Given the description of an element on the screen output the (x, y) to click on. 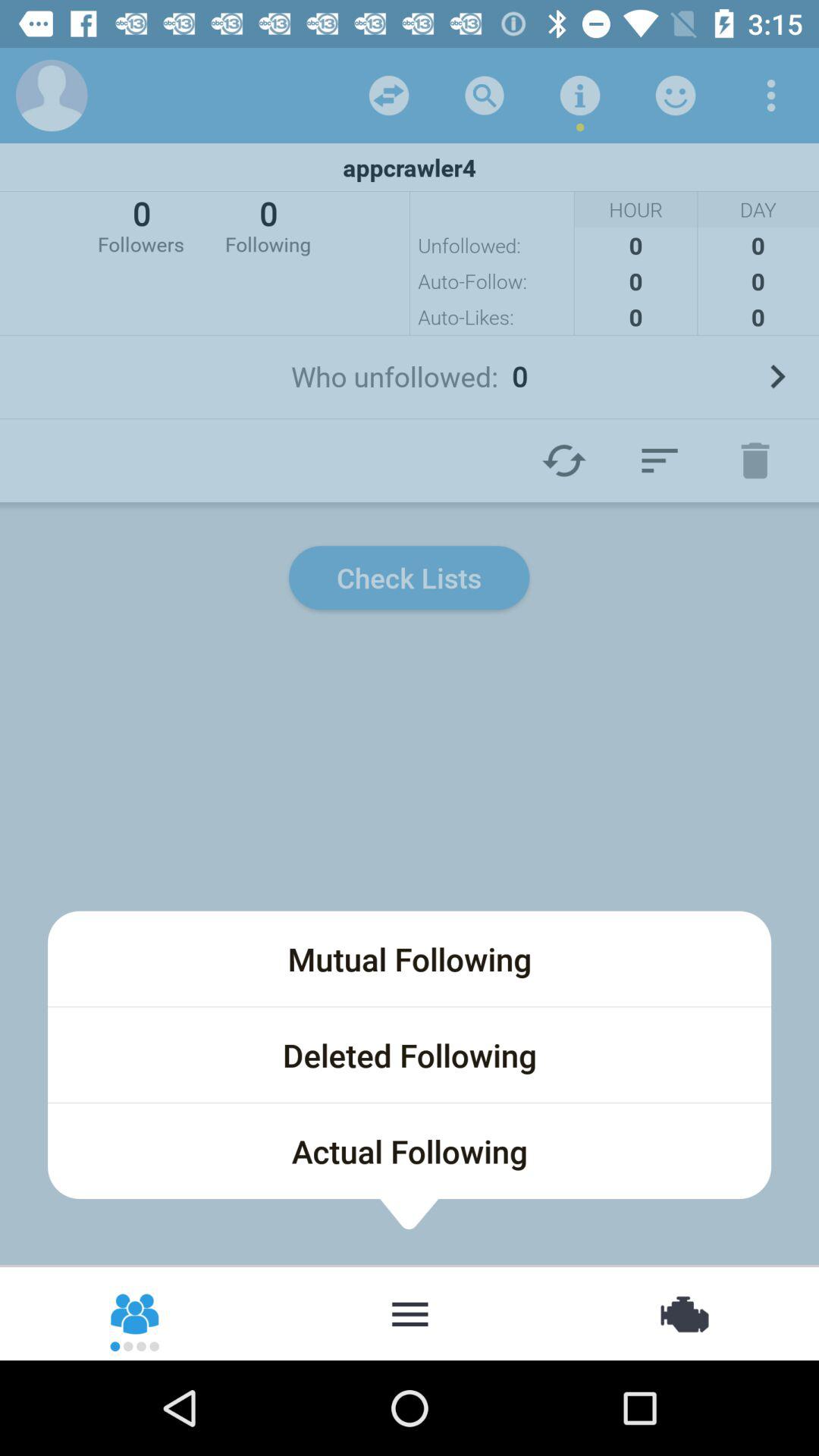
turn off the 0
following icon (268, 224)
